Given the description of an element on the screen output the (x, y) to click on. 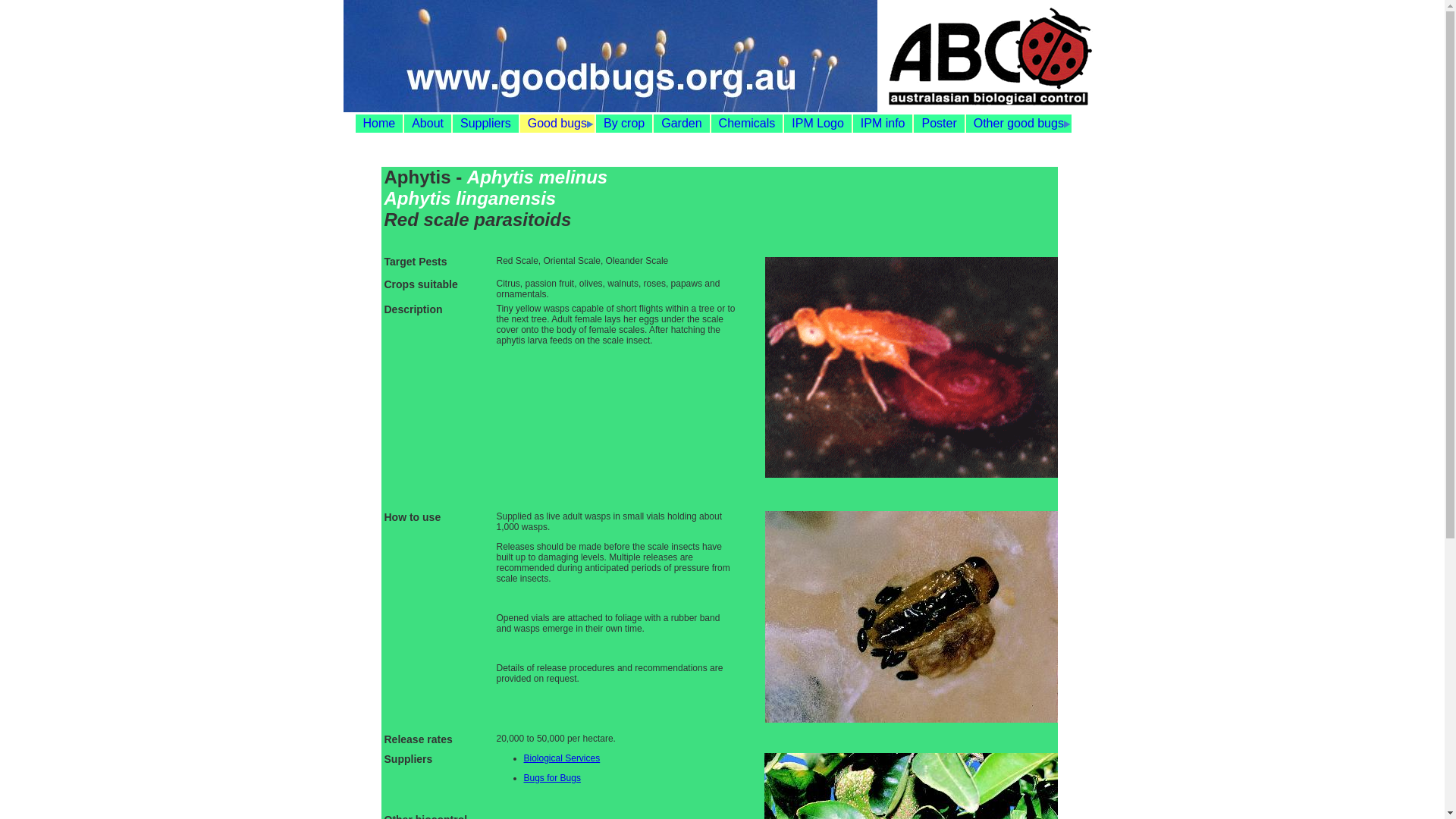
Other good bugs Element type: text (1018, 123)
Suppliers Element type: text (485, 123)
Bugs for Bugs Element type: text (551, 777)
Poster Element type: text (938, 123)
Chemicals Element type: text (747, 123)
IPM Logo Element type: text (817, 123)
IPM info Element type: text (883, 123)
Garden Element type: text (681, 123)
Home Element type: text (378, 123)
About Element type: text (427, 123)
Biological Services Element type: text (561, 758)
Good bugs Element type: text (557, 123)
By crop Element type: text (624, 123)
